Given the description of an element on the screen output the (x, y) to click on. 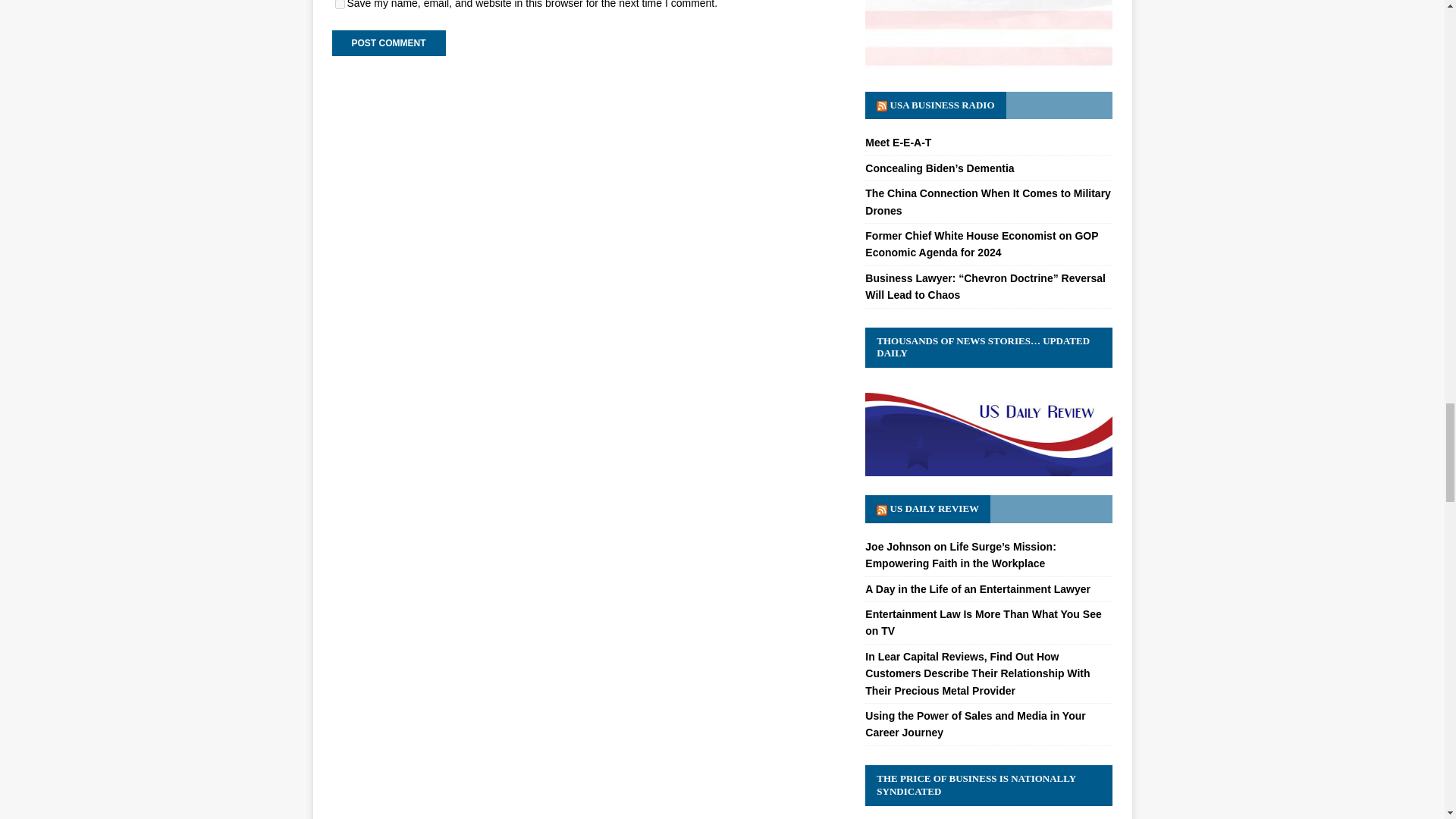
yes (339, 4)
Post Comment (388, 43)
